Given the description of an element on the screen output the (x, y) to click on. 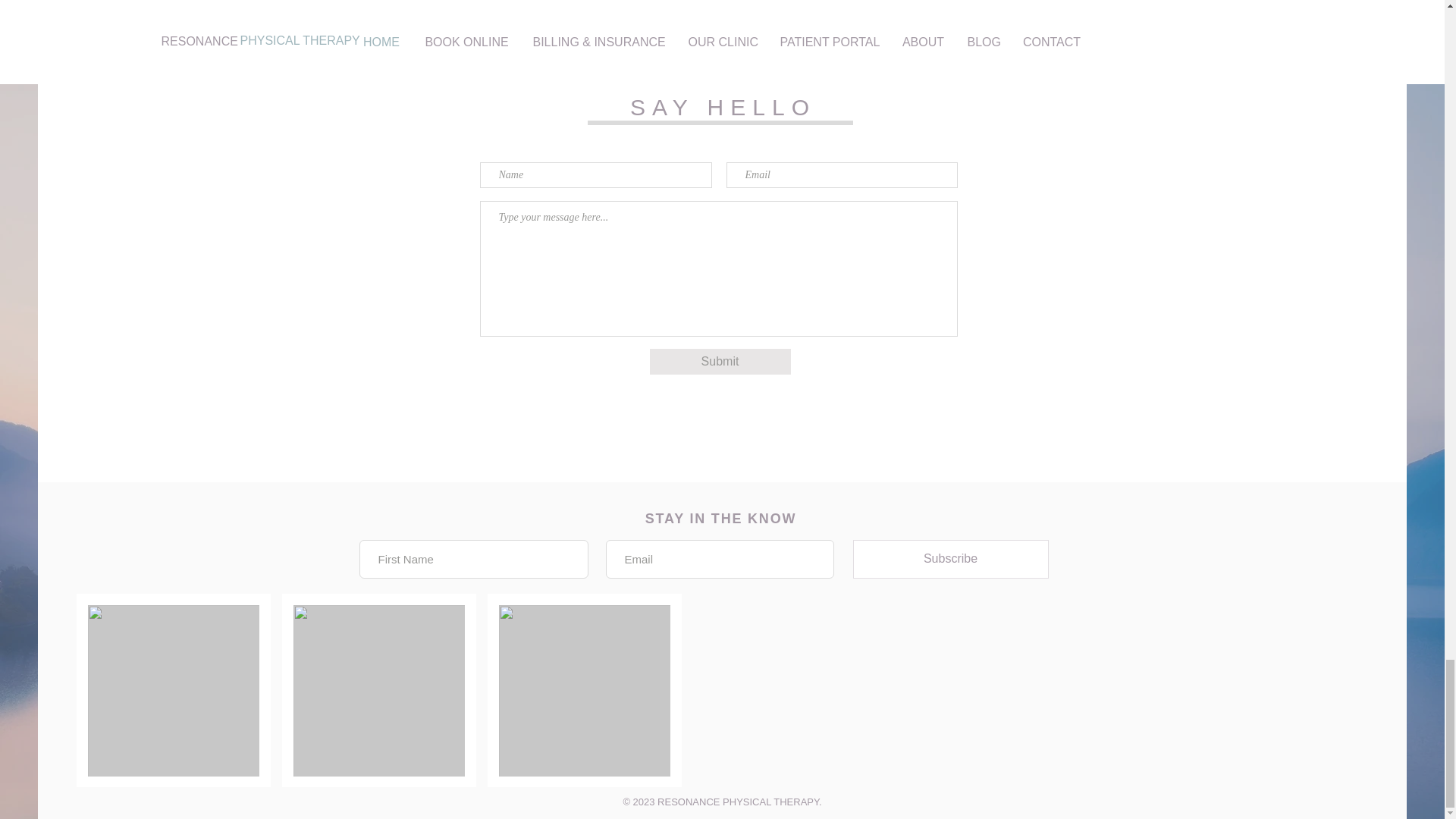
Subscribe (949, 558)
Submit (719, 361)
